Given the description of an element on the screen output the (x, y) to click on. 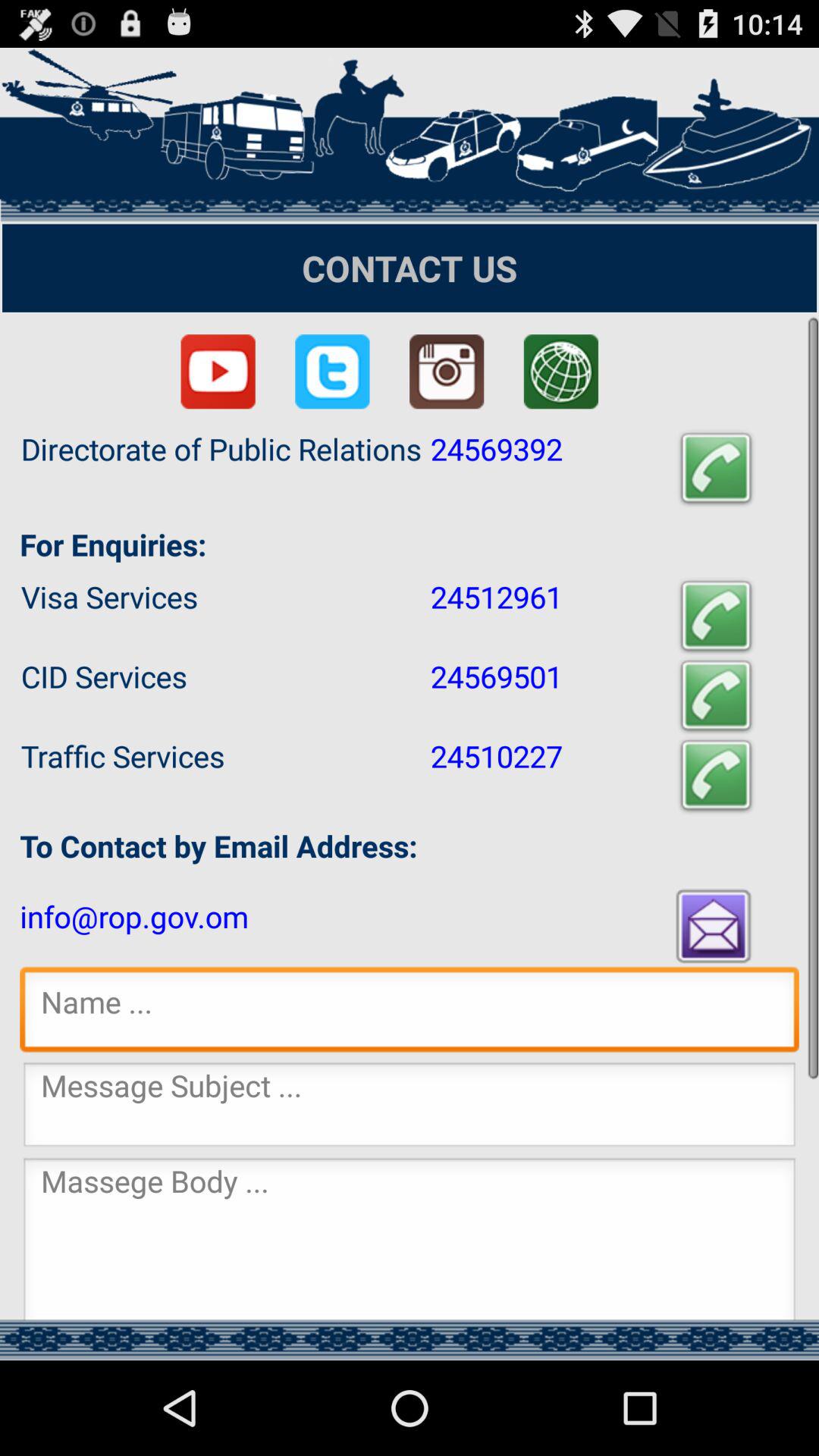
go to instagram (446, 371)
